Given the description of an element on the screen output the (x, y) to click on. 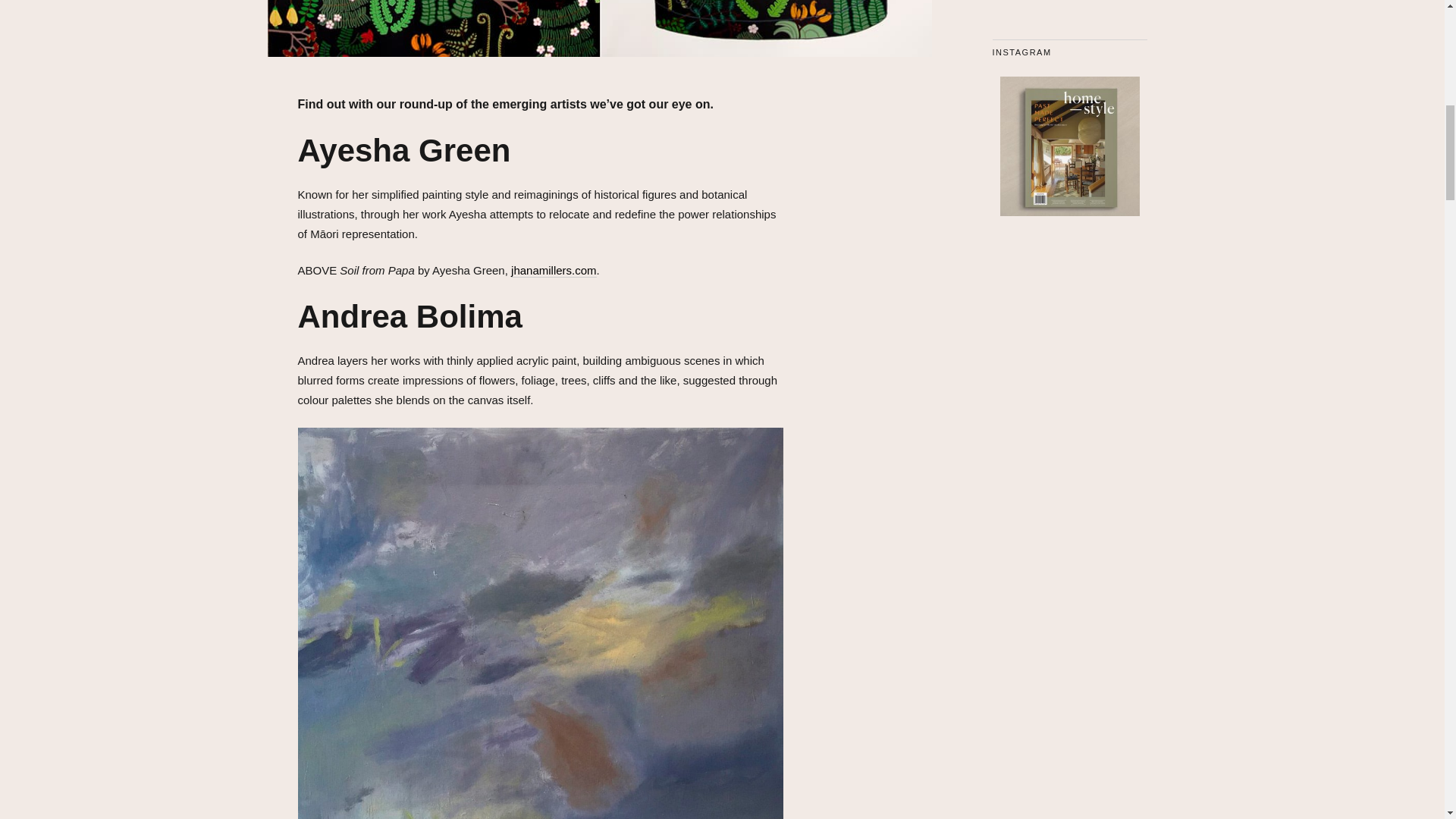
jhanamillers.com (553, 270)
